Given the description of an element on the screen output the (x, y) to click on. 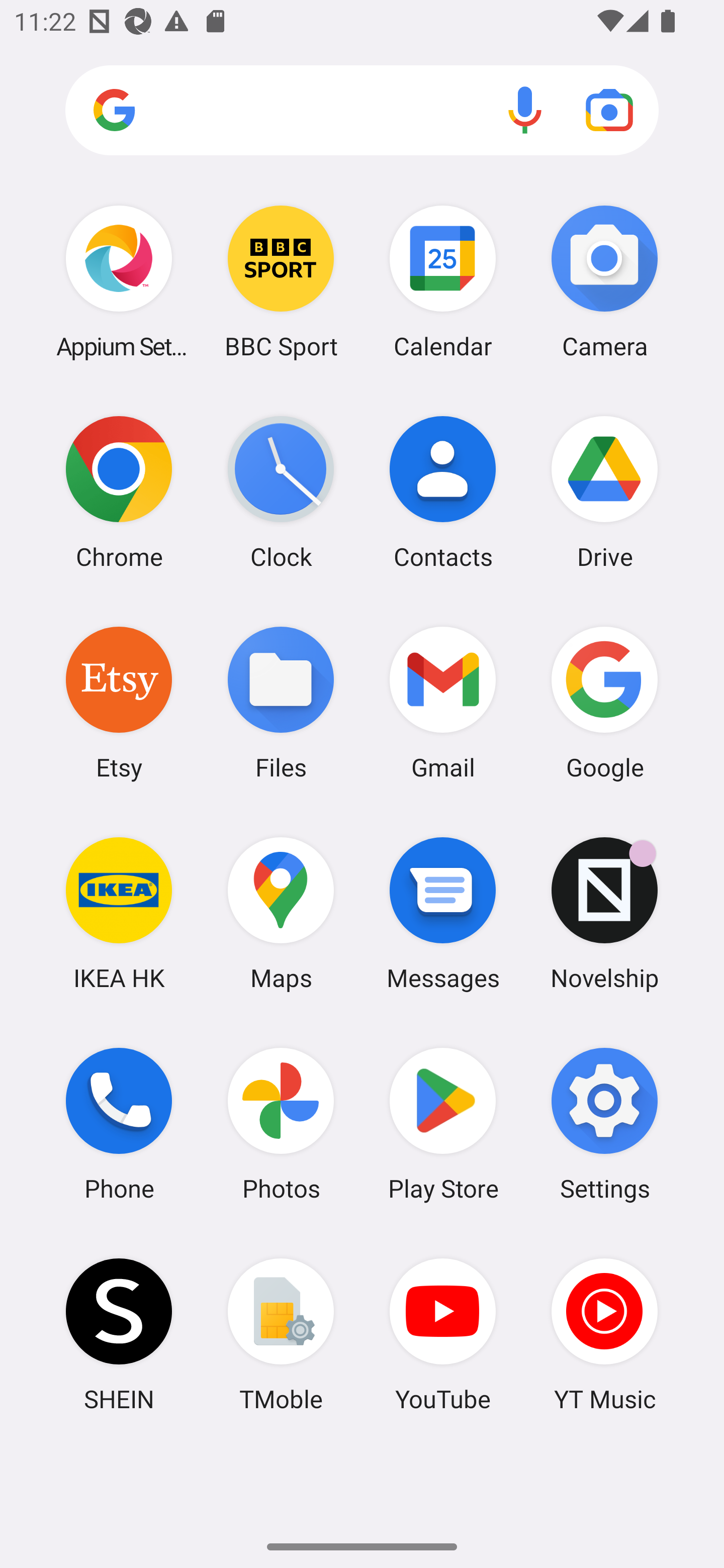
Search apps, web and more (361, 110)
Voice search (524, 109)
Google Lens (608, 109)
Appium Settings (118, 281)
BBC Sport (280, 281)
Calendar (443, 281)
Camera (604, 281)
Chrome (118, 492)
Clock (280, 492)
Contacts (443, 492)
Drive (604, 492)
Etsy (118, 702)
Files (280, 702)
Gmail (443, 702)
Google (604, 702)
IKEA HK (118, 913)
Maps (280, 913)
Messages (443, 913)
Novelship Novelship has 5 notifications (604, 913)
Phone (118, 1124)
Photos (280, 1124)
Play Store (443, 1124)
Settings (604, 1124)
SHEIN (118, 1334)
TMoble (280, 1334)
YouTube (443, 1334)
YT Music (604, 1334)
